Given the description of an element on the screen output the (x, y) to click on. 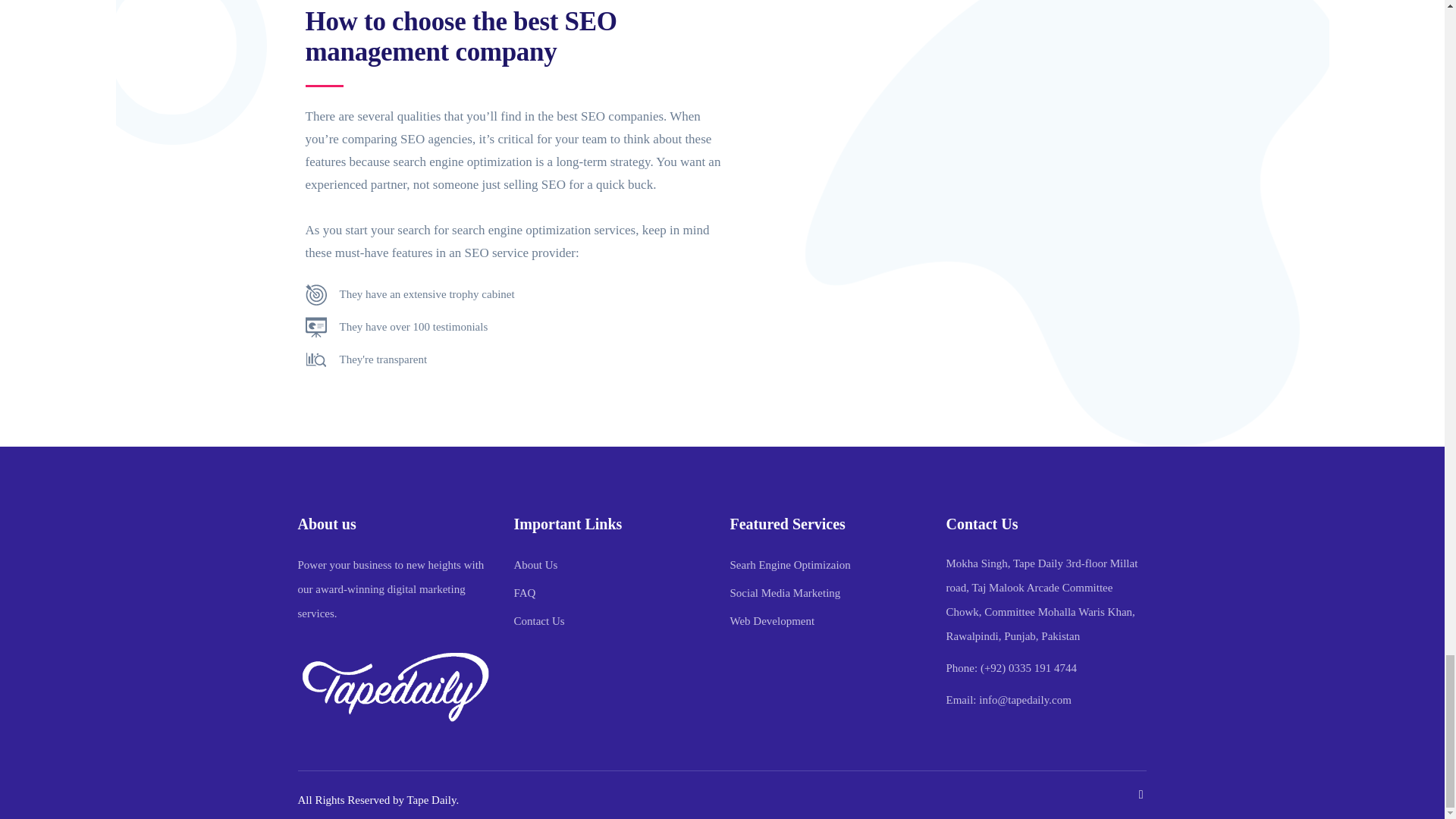
FAQ (524, 592)
Contact Us (538, 621)
About Us (535, 564)
Web Development (771, 621)
Searh Engine Optimizaion (789, 564)
Social Media Marketing (784, 592)
